Given the description of an element on the screen output the (x, y) to click on. 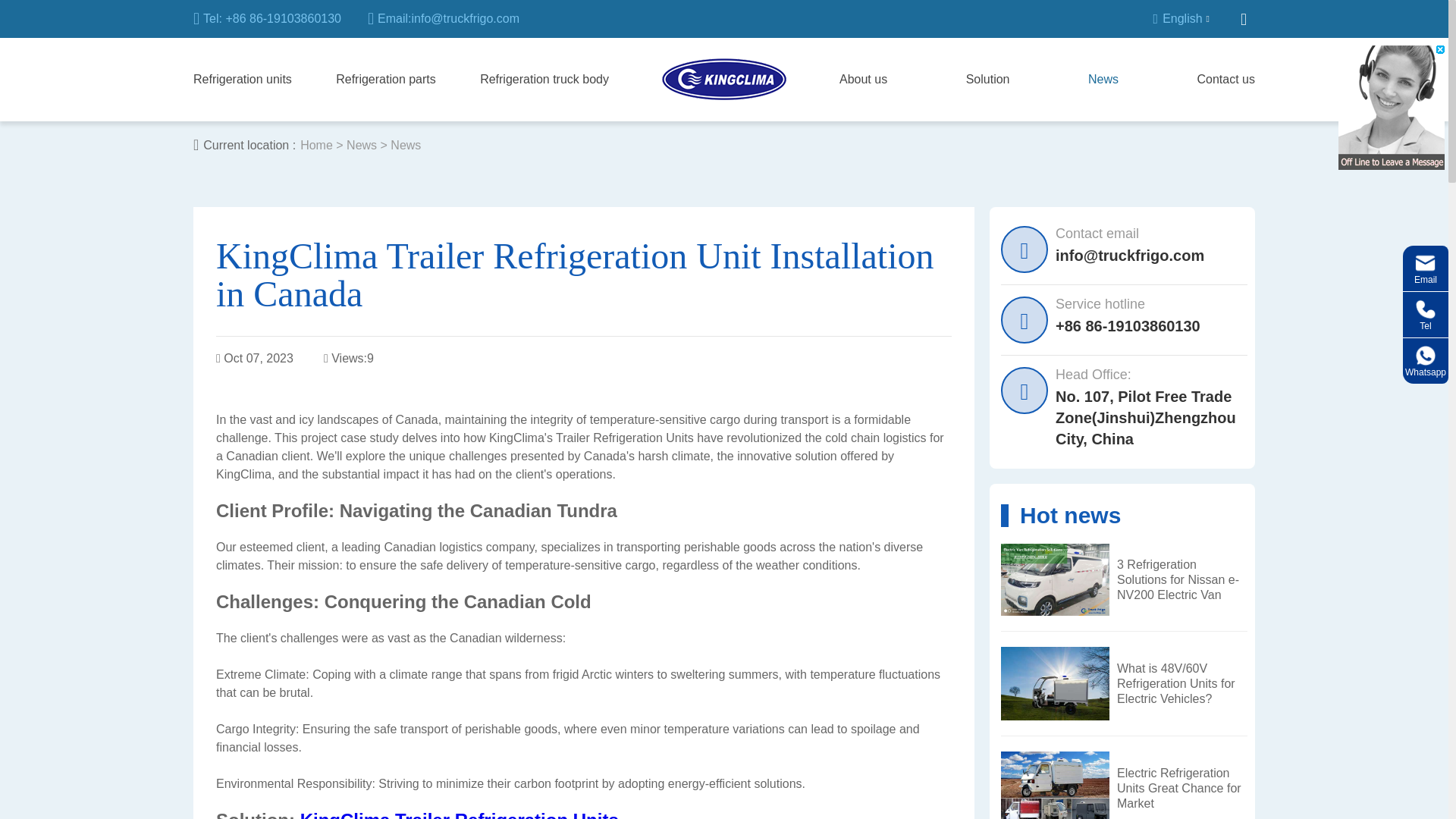
Refrigeration parts (385, 79)
Refrigeration truck body (544, 79)
Refrigeration units (242, 79)
